Given the description of an element on the screen output the (x, y) to click on. 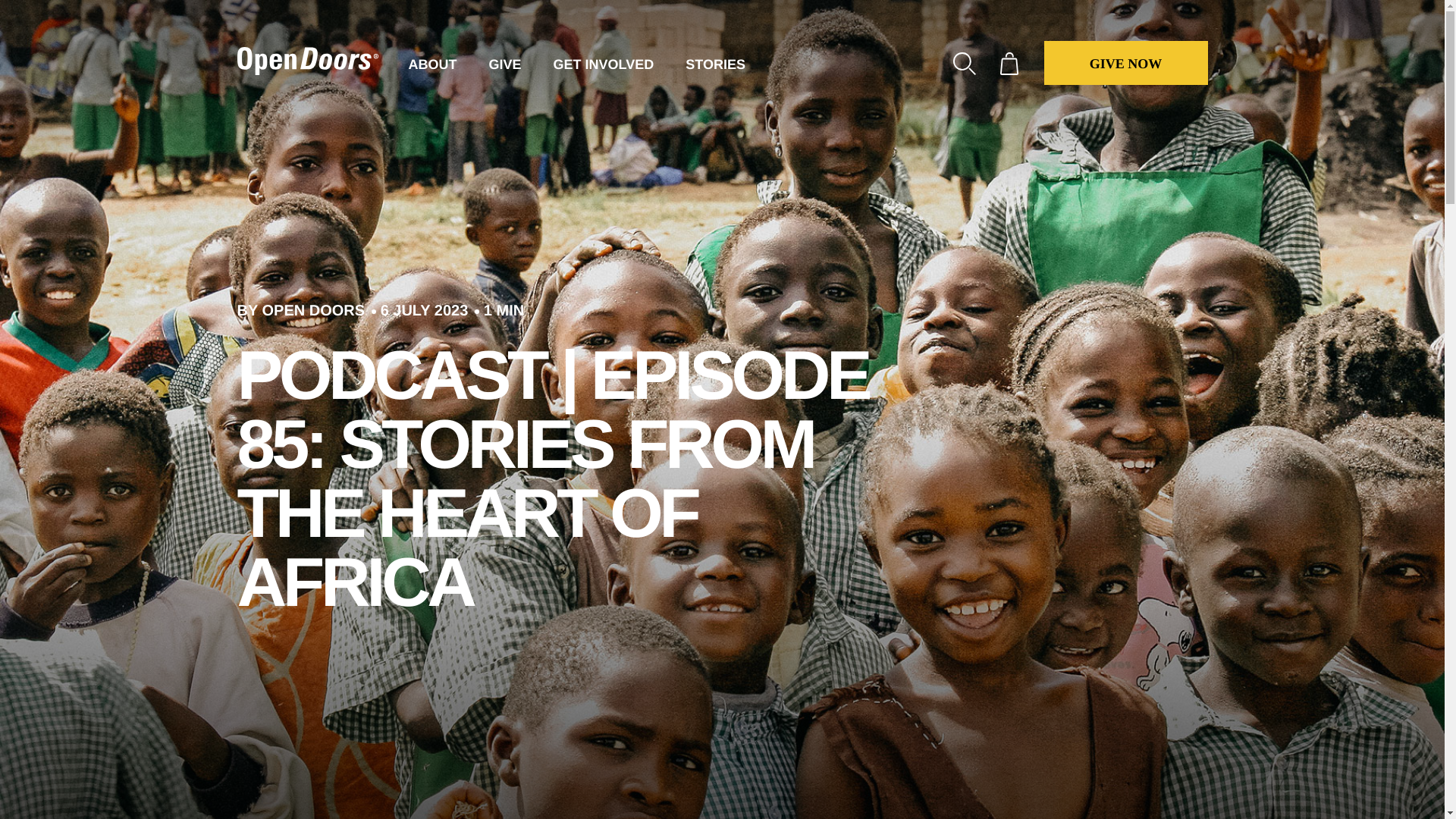
ABOUT (432, 64)
Search (963, 63)
GIVE (504, 64)
Open Doors (306, 60)
STORIES (715, 64)
GET INVOLVED (603, 64)
GIVE NOW (1125, 62)
